Given the description of an element on the screen output the (x, y) to click on. 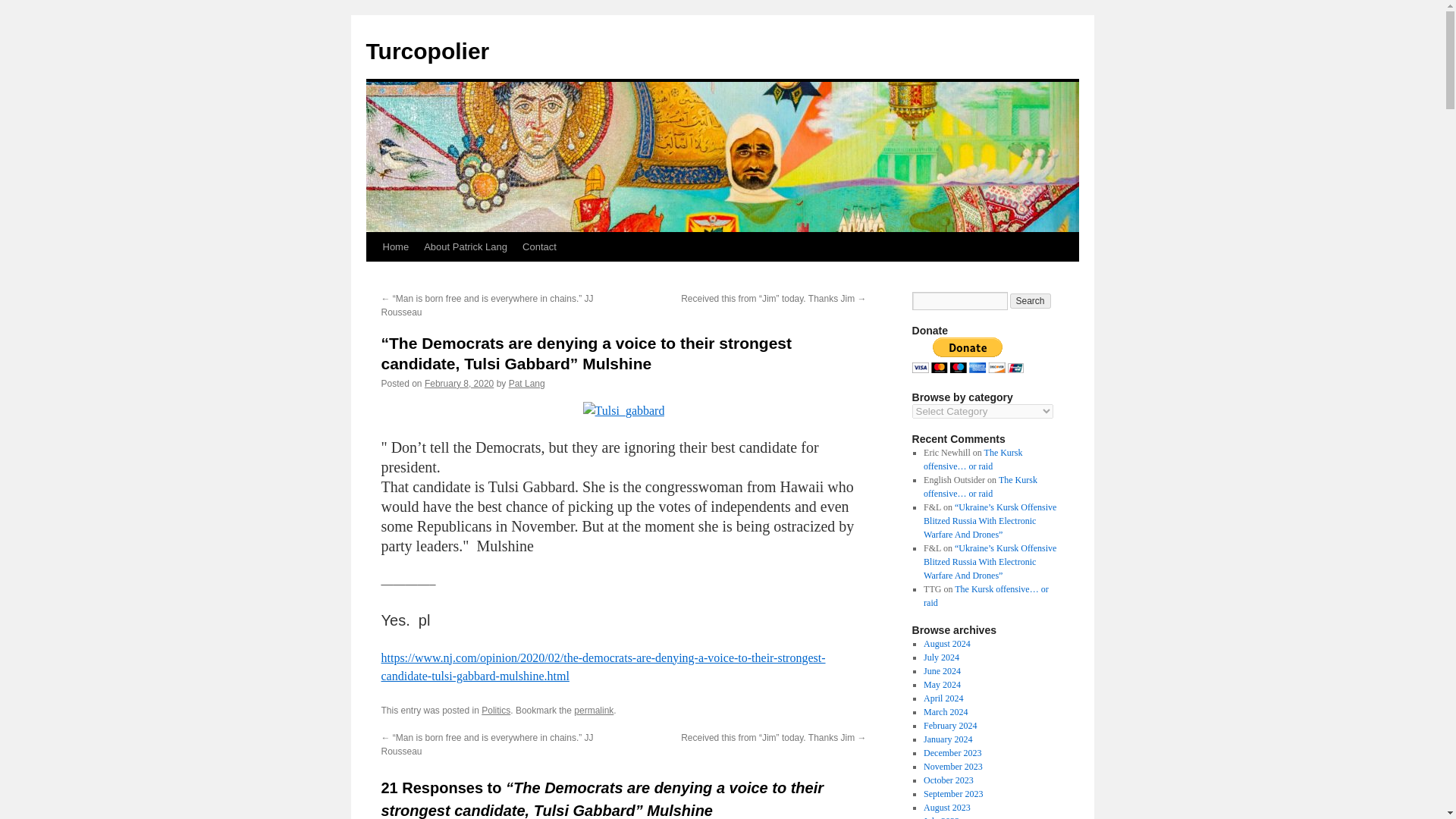
permalink (592, 710)
Contact (539, 246)
Home (395, 246)
February 8, 2020 (459, 383)
View all posts by Pat Lang (526, 383)
Search (1030, 300)
10:40 pm (459, 383)
Pat Lang (526, 383)
TG (602, 666)
Politics (496, 710)
